Given the description of an element on the screen output the (x, y) to click on. 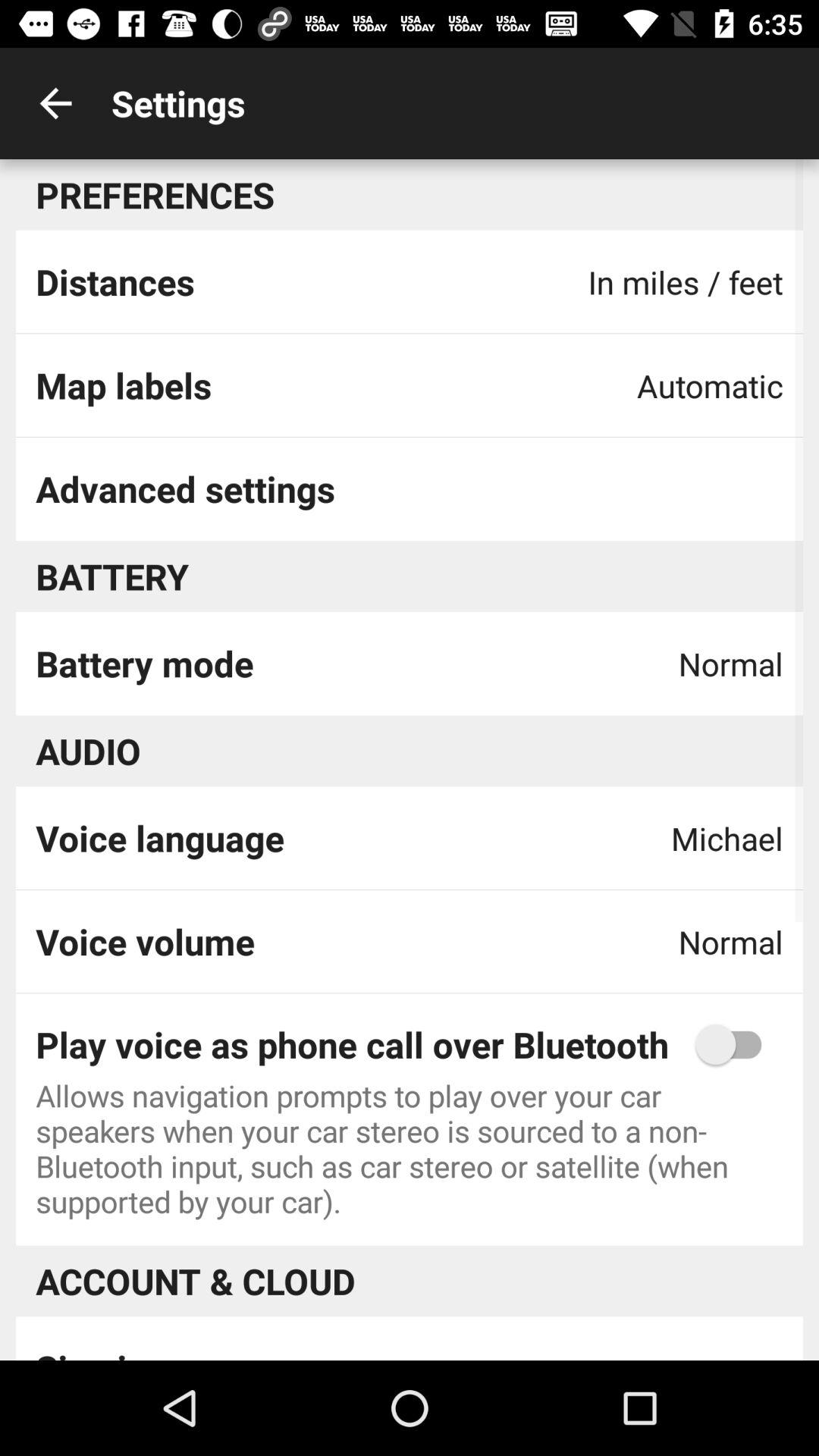
turn on distances (114, 281)
